Given the description of an element on the screen output the (x, y) to click on. 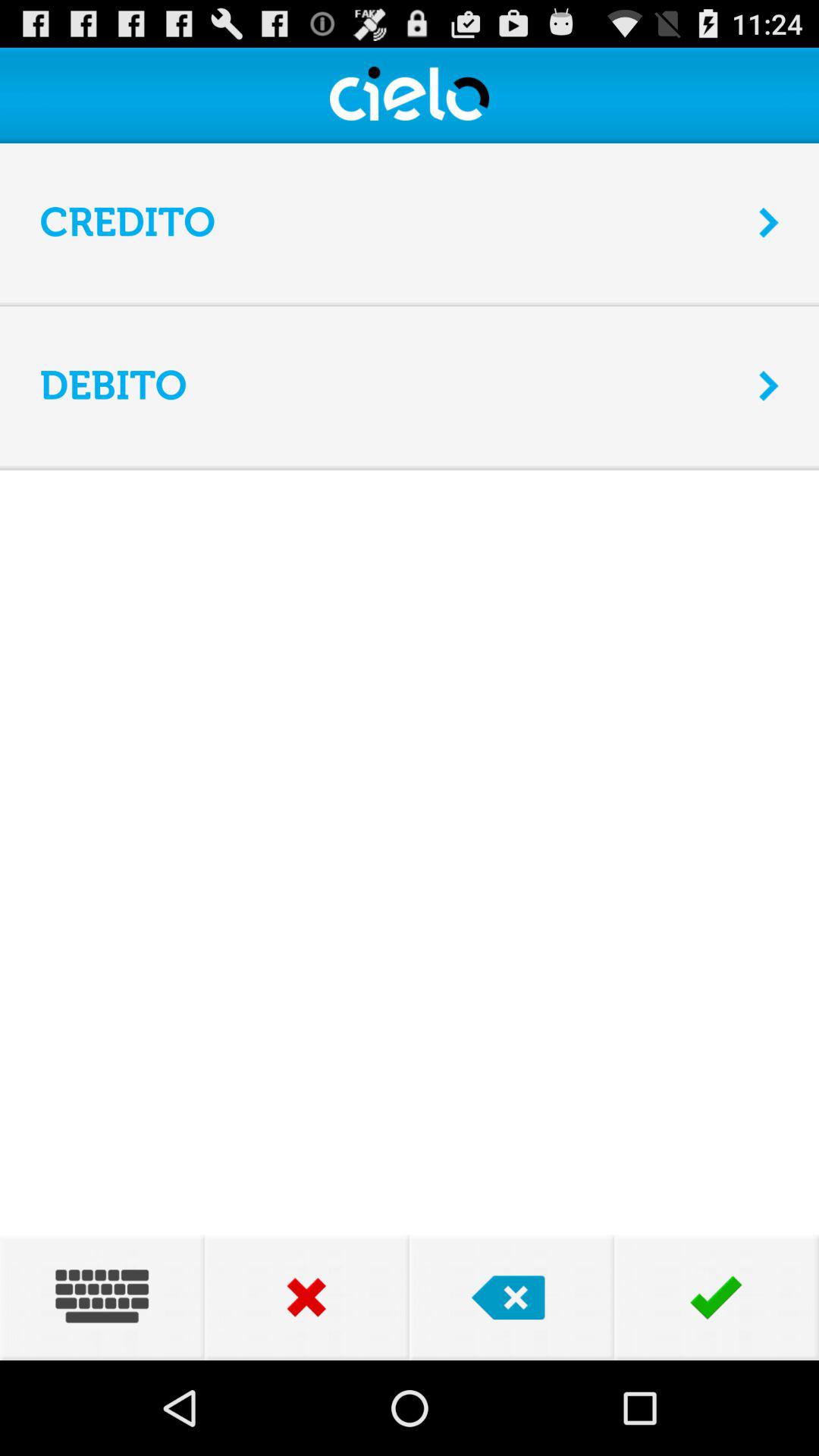
press credito item (389, 222)
